Given the description of an element on the screen output the (x, y) to click on. 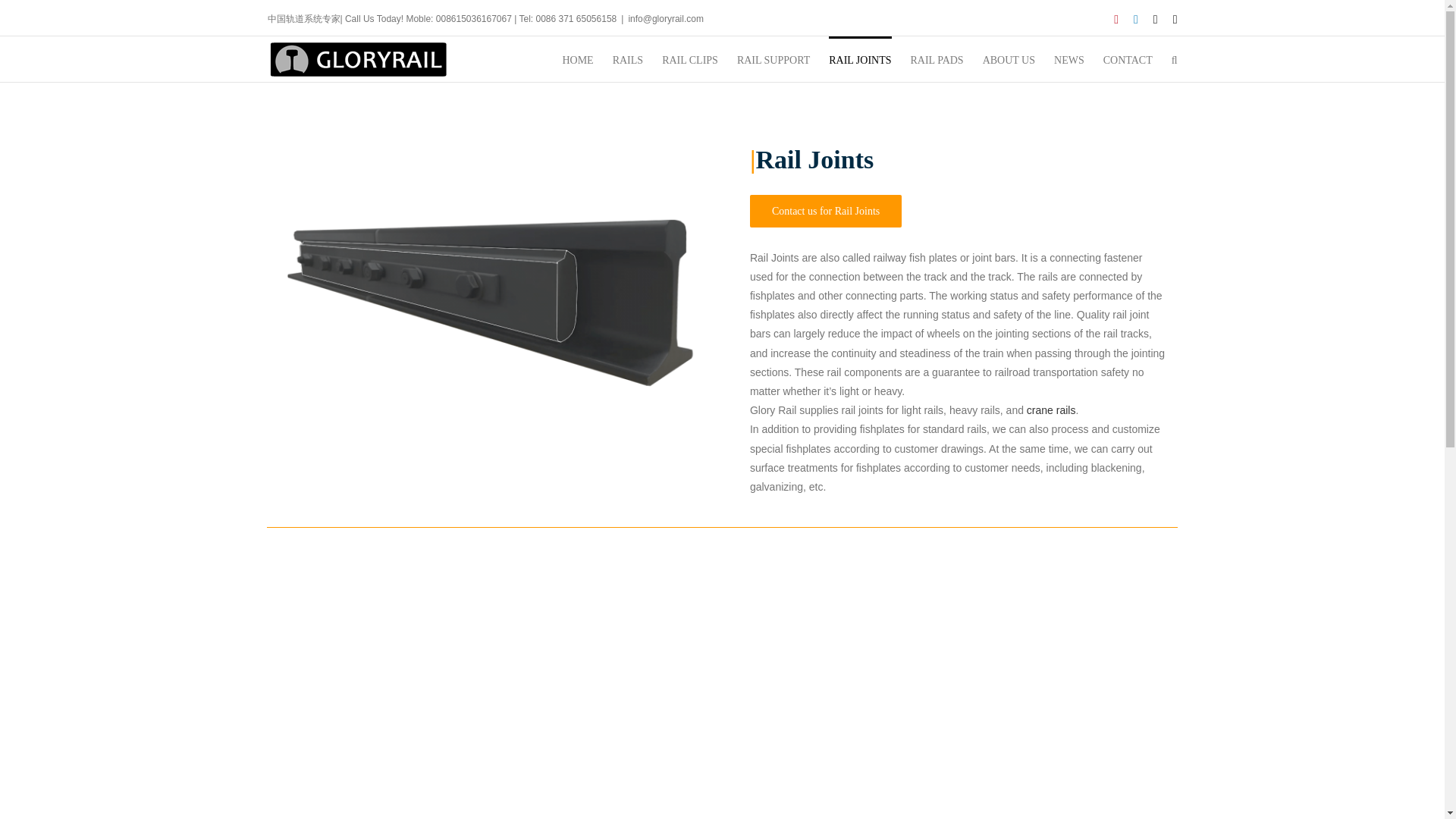
RAIL JOINTS (859, 58)
RAIL CLIPS (689, 58)
CONTACT (1128, 58)
ABOUT US (1008, 58)
RAIL SUPPORT (772, 58)
RAIL PADS (936, 58)
